Given the description of an element on the screen output the (x, y) to click on. 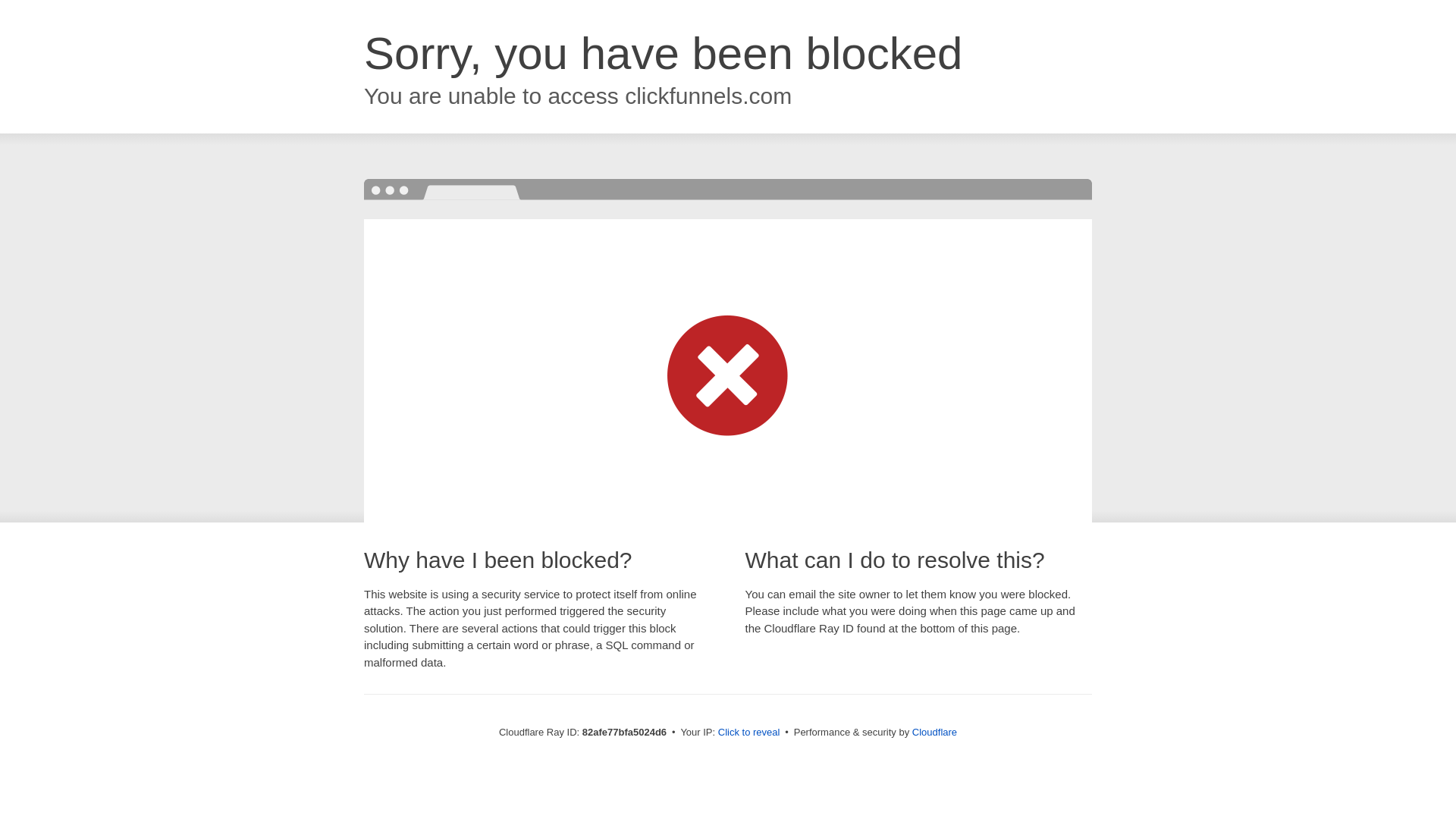
Click to reveal Element type: text (749, 732)
Cloudflare Element type: text (934, 731)
